Given the description of an element on the screen output the (x, y) to click on. 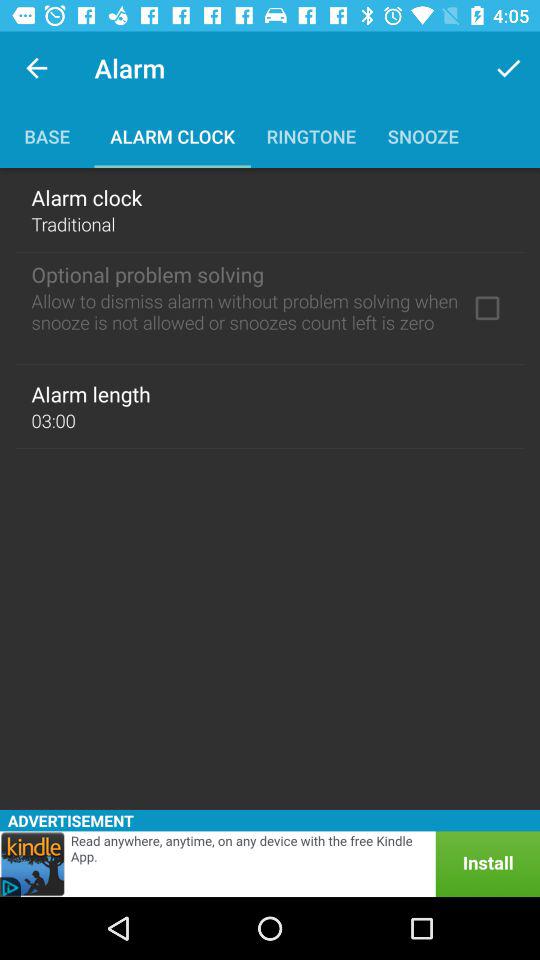
click icon next to the alarm app (36, 68)
